Given the description of an element on the screen output the (x, y) to click on. 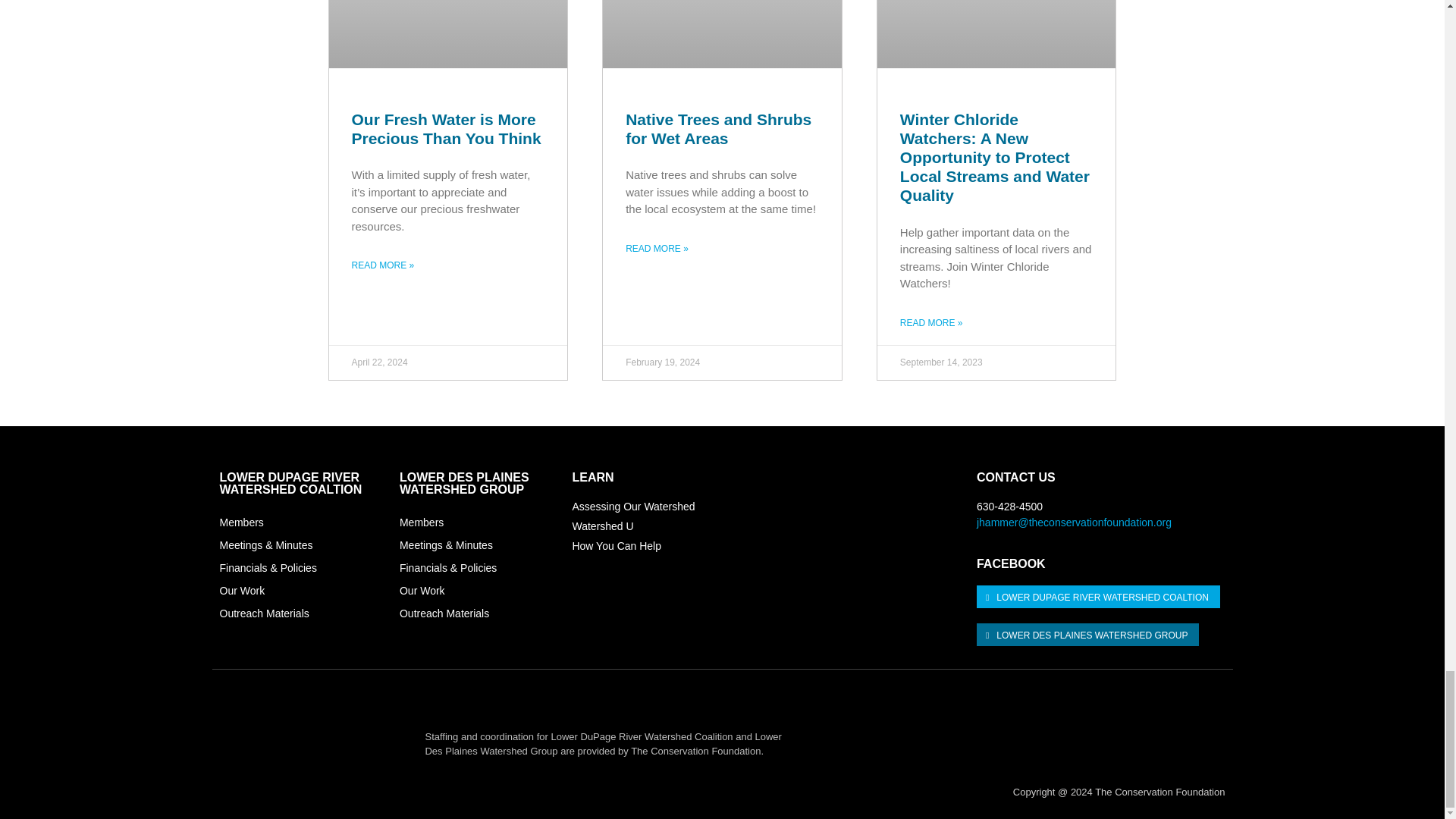
Our Fresh Water is More Precious Than You Think (446, 128)
Native Trees and Shrubs for Wet Areas (718, 128)
